Given the description of an element on the screen output the (x, y) to click on. 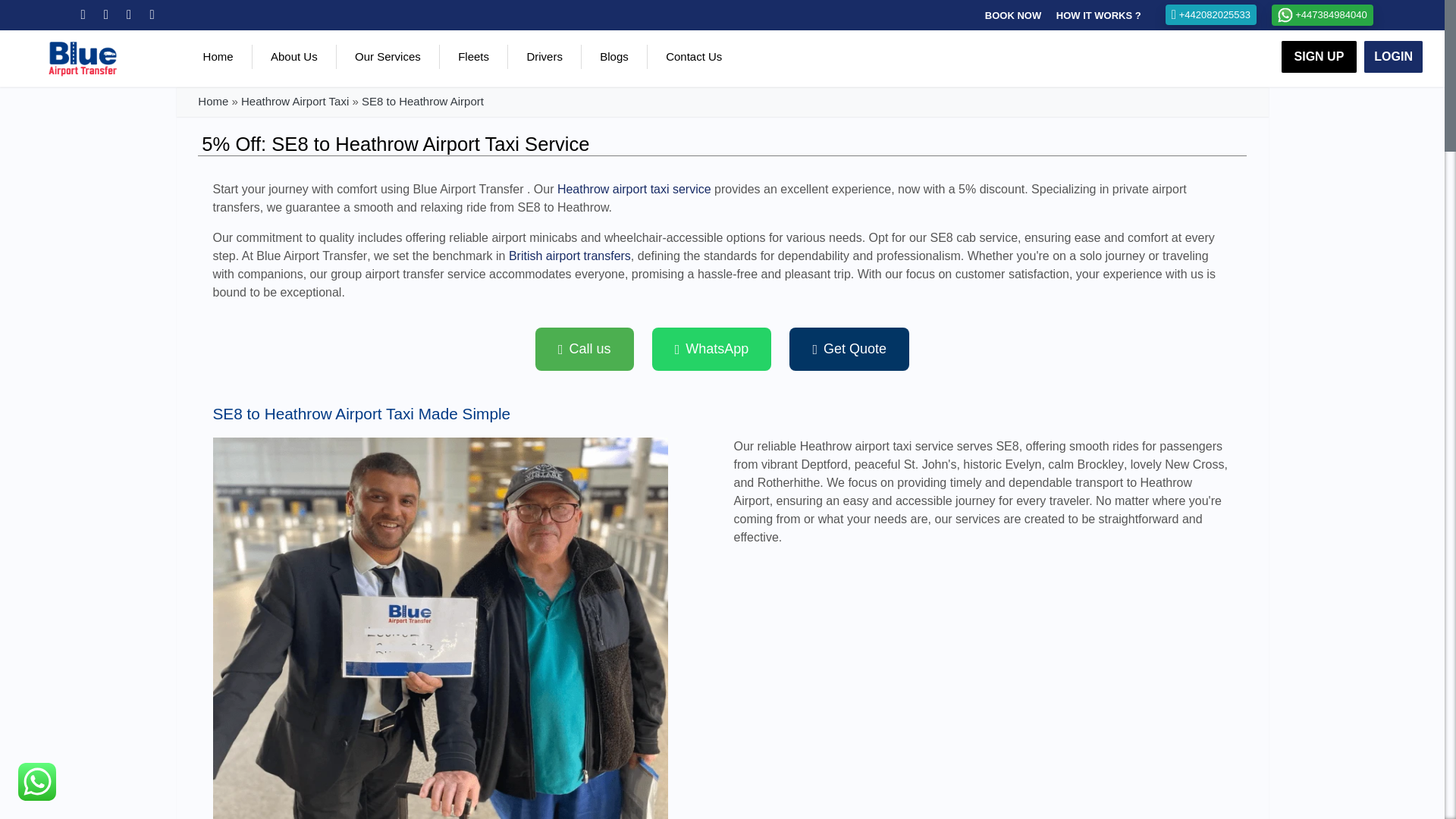
Home (217, 57)
HOW IT WORKS ? (1099, 15)
Blogs (614, 57)
Heathrow Airport Taxi (295, 101)
Our Services (387, 57)
SIGN UP (1318, 56)
Home (213, 101)
WhatsApp (711, 349)
British airport transfers (569, 255)
Fleets (473, 57)
